Given the description of an element on the screen output the (x, y) to click on. 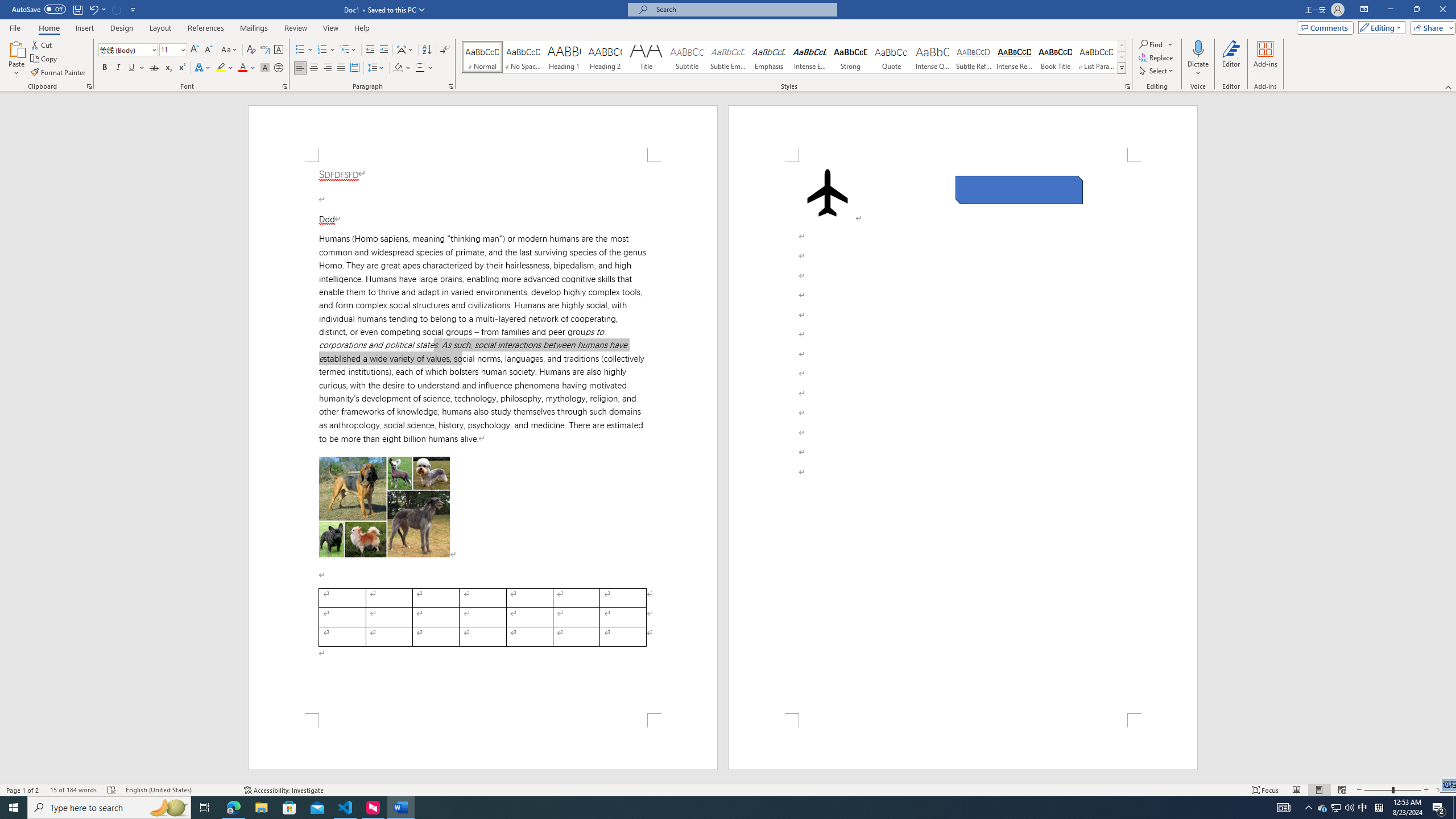
Editing (1379, 27)
Quote (891, 56)
Numbering (322, 49)
Customize Quick Access Toolbar (133, 9)
Font Color RGB(255, 0, 0) (241, 67)
Asian Layout (405, 49)
Change Case (229, 49)
Underline (131, 67)
Line and Paragraph Spacing (376, 67)
Replace... (1156, 56)
Undo Apply Quick Style Set (96, 9)
Share (1430, 27)
Accessibility Checker Accessibility: Investigate (283, 790)
Subscript (167, 67)
